Given the description of an element on the screen output the (x, y) to click on. 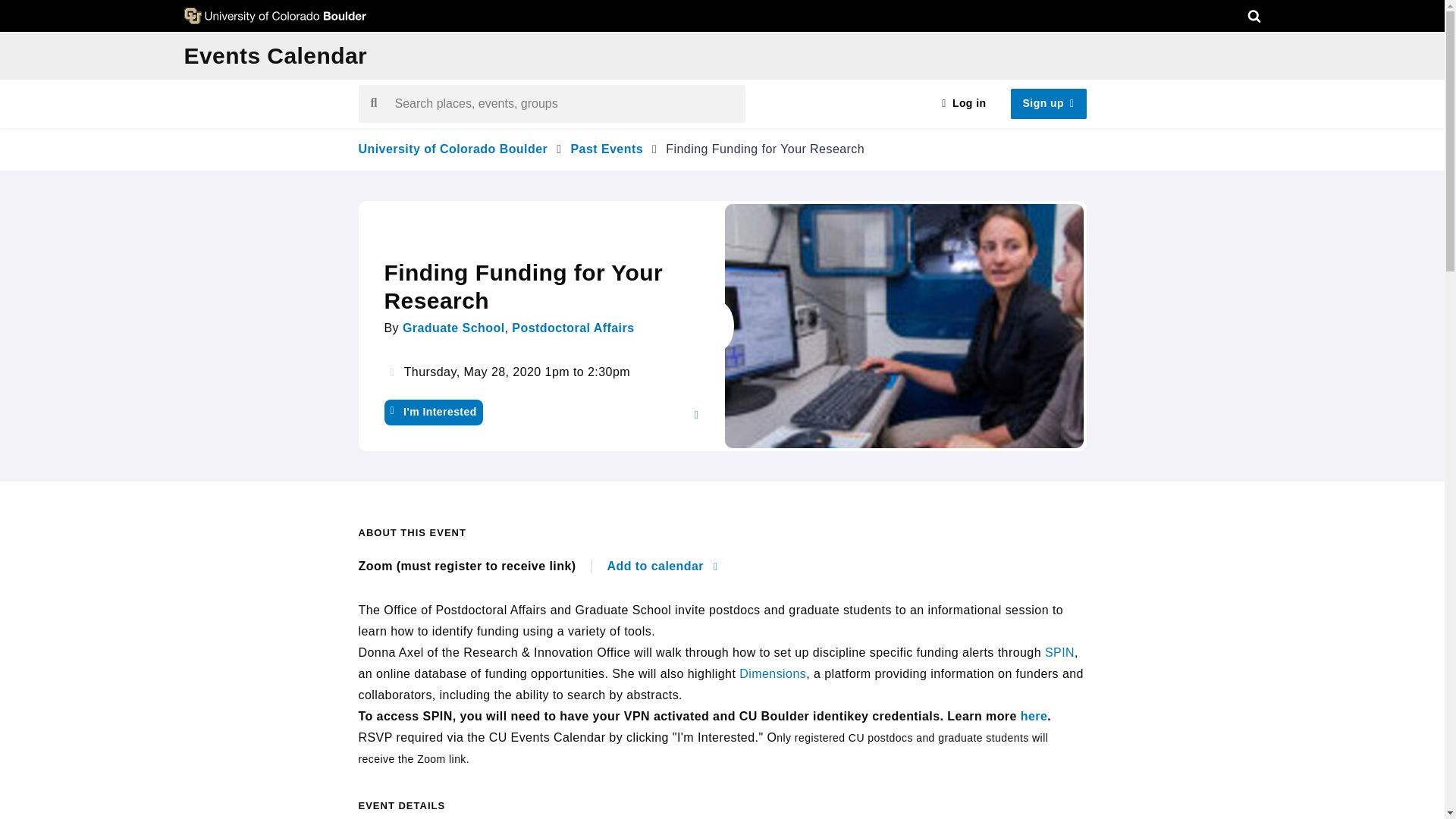
I'm Interested (432, 412)
University of Colorado Boulder (452, 148)
Events Calendar (274, 55)
Graduate School (454, 327)
Postdoctoral Affairs (572, 327)
SPIN (1059, 652)
Add to calendar (662, 566)
here (1034, 716)
Sign up (1048, 103)
Dimensions (772, 673)
Past Events (606, 148)
Log in (963, 103)
